Given the description of an element on the screen output the (x, y) to click on. 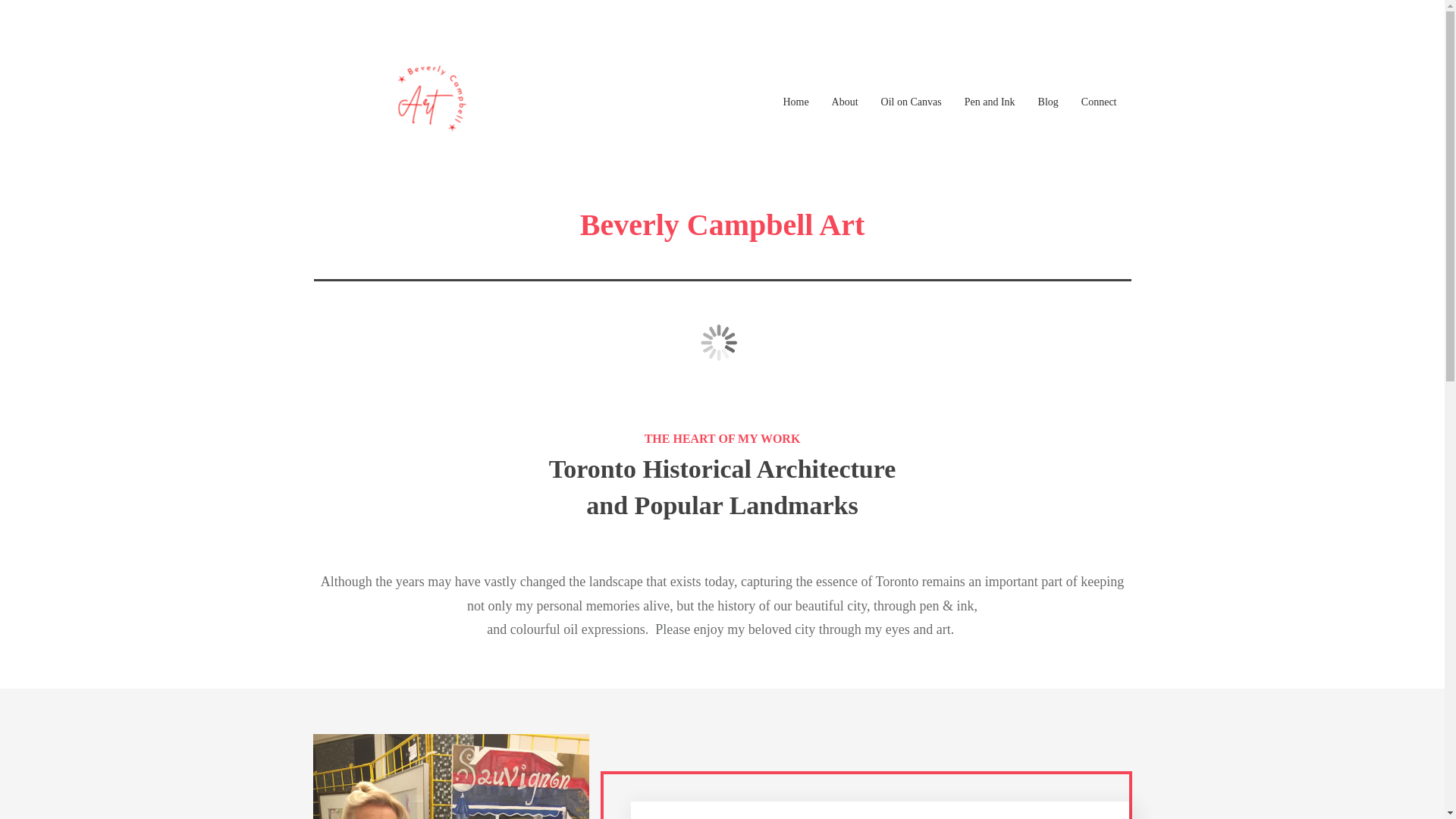
Blog Element type: text (1048, 101)
Connect Element type: text (1099, 101)
Home Element type: text (795, 101)
Oil on Canvas Element type: text (911, 101)
Pen and Ink Element type: text (989, 101)
About Element type: text (844, 101)
